Given the description of an element on the screen output the (x, y) to click on. 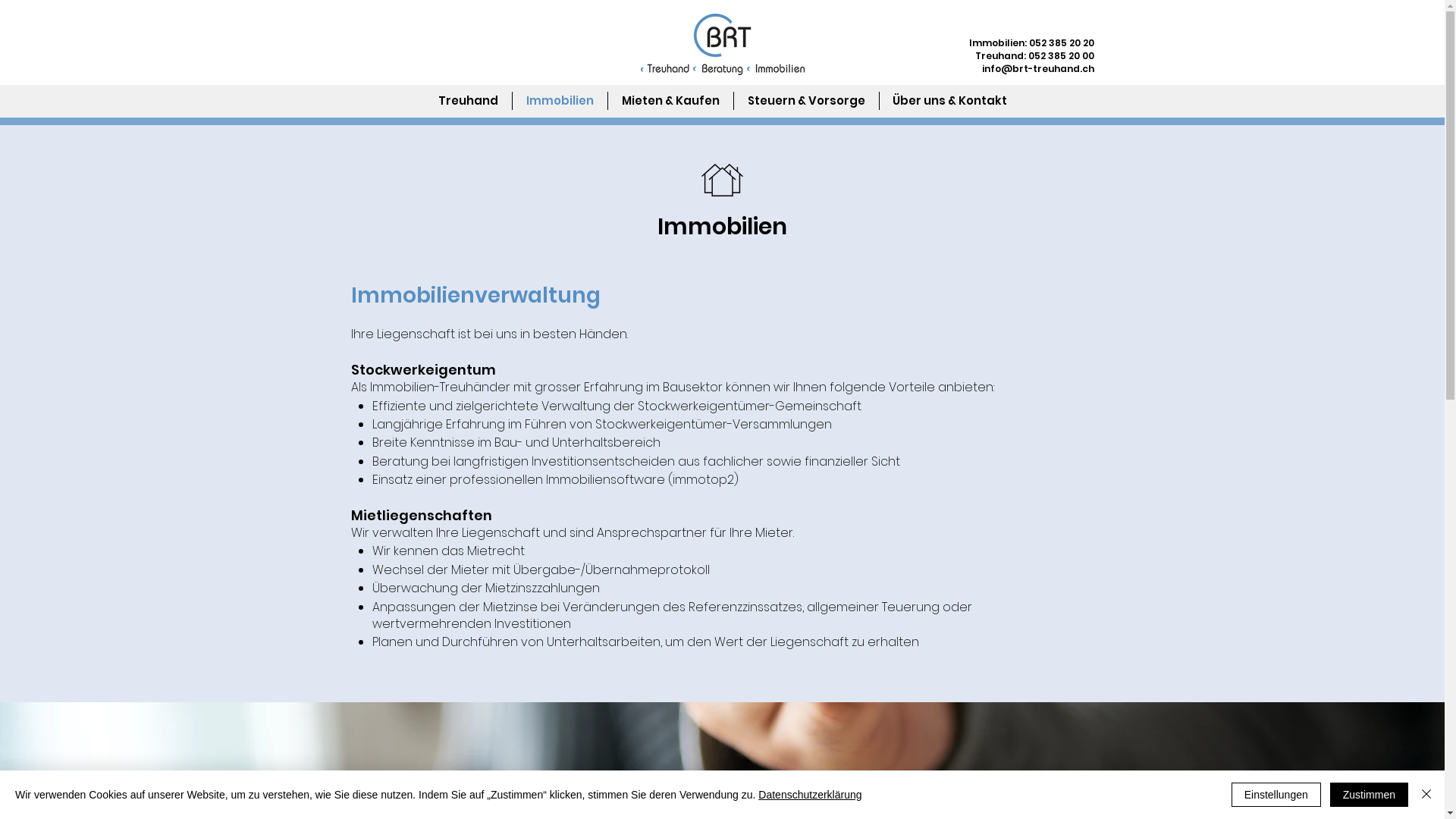
Treuhand Element type: text (467, 100)
Zustimmen Element type: text (1369, 794)
info@brt-treuhand.ch Element type: text (1037, 68)
Steuern & Vorsorge Element type: text (806, 100)
Einstellungen Element type: text (1276, 794)
Treuhand: 052 385 20 00 Element type: text (1034, 55)
Immobilien Element type: text (559, 100)
052 385 20 20 Element type: text (1060, 42)
Mieten & Kaufen Element type: text (670, 100)
